Given the description of an element on the screen output the (x, y) to click on. 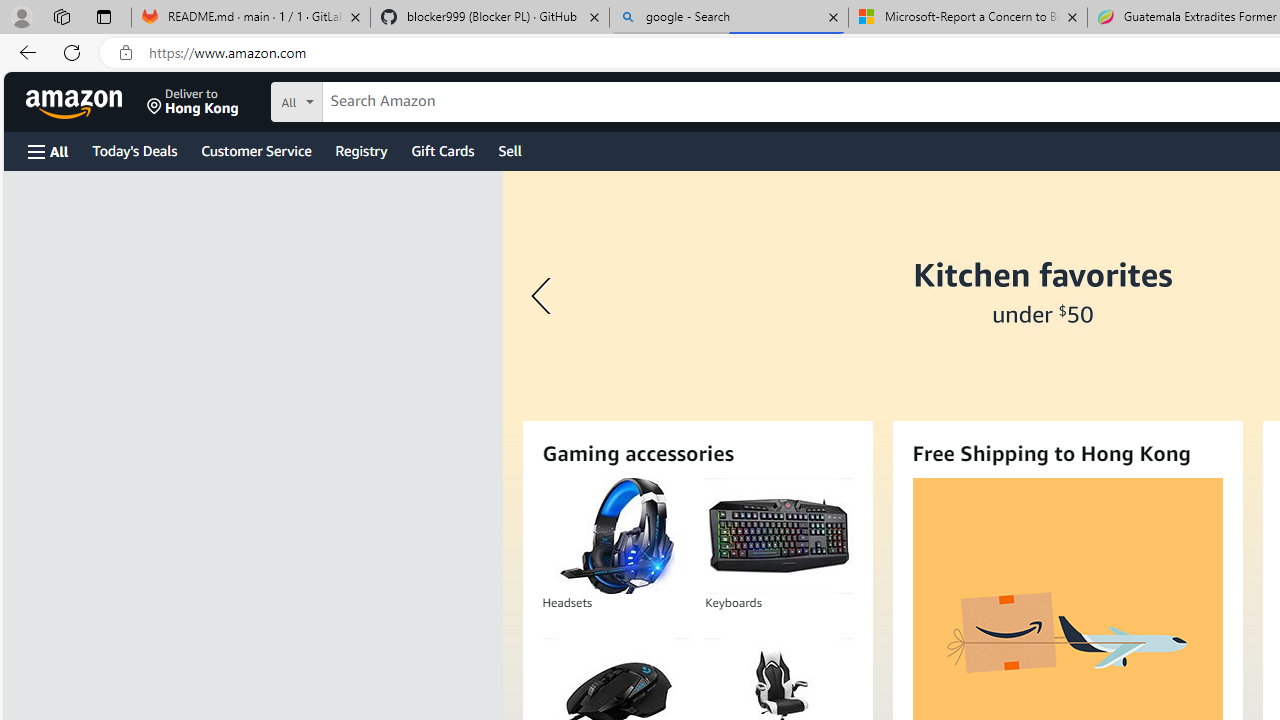
Skip to main content (86, 100)
Personal Profile (21, 16)
google - Search (729, 17)
Deliver to Hong Kong (193, 101)
Today's Deals (134, 150)
Search in (371, 99)
View site information (125, 53)
Registry (360, 150)
Workspaces (61, 16)
Customer Service (256, 150)
